Given the description of an element on the screen output the (x, y) to click on. 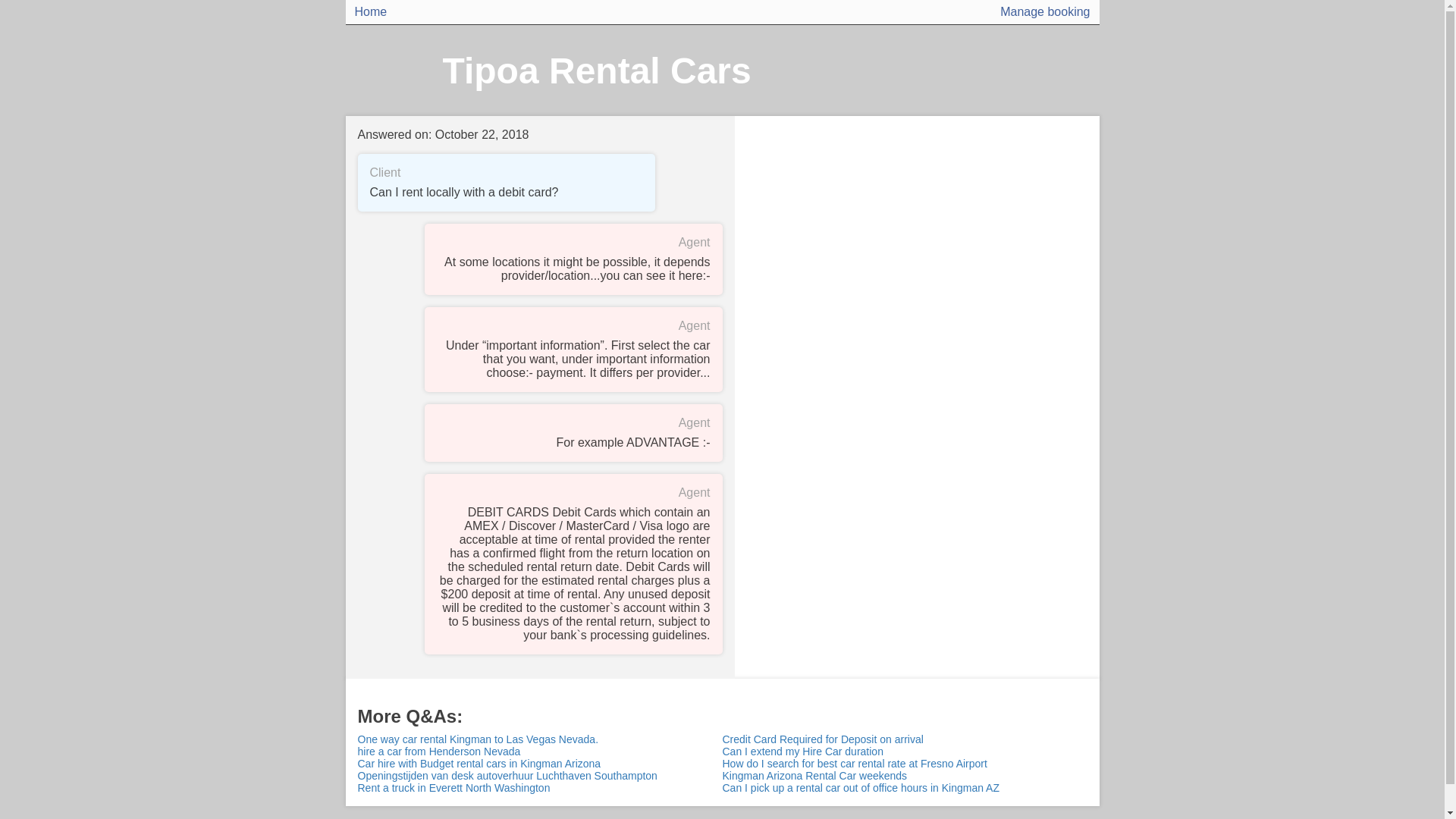
One way car rental Kingman to Las Vegas Nevada. (540, 739)
Car hire with Budget rental cars in Kingman Arizona (540, 763)
Openingstijden van desk autoverhuur Luchthaven Southampton (540, 775)
Home (371, 11)
Rent a truck in Everett North Washington (540, 787)
hire a car from Henderson Nevada (540, 751)
